Given the description of an element on the screen output the (x, y) to click on. 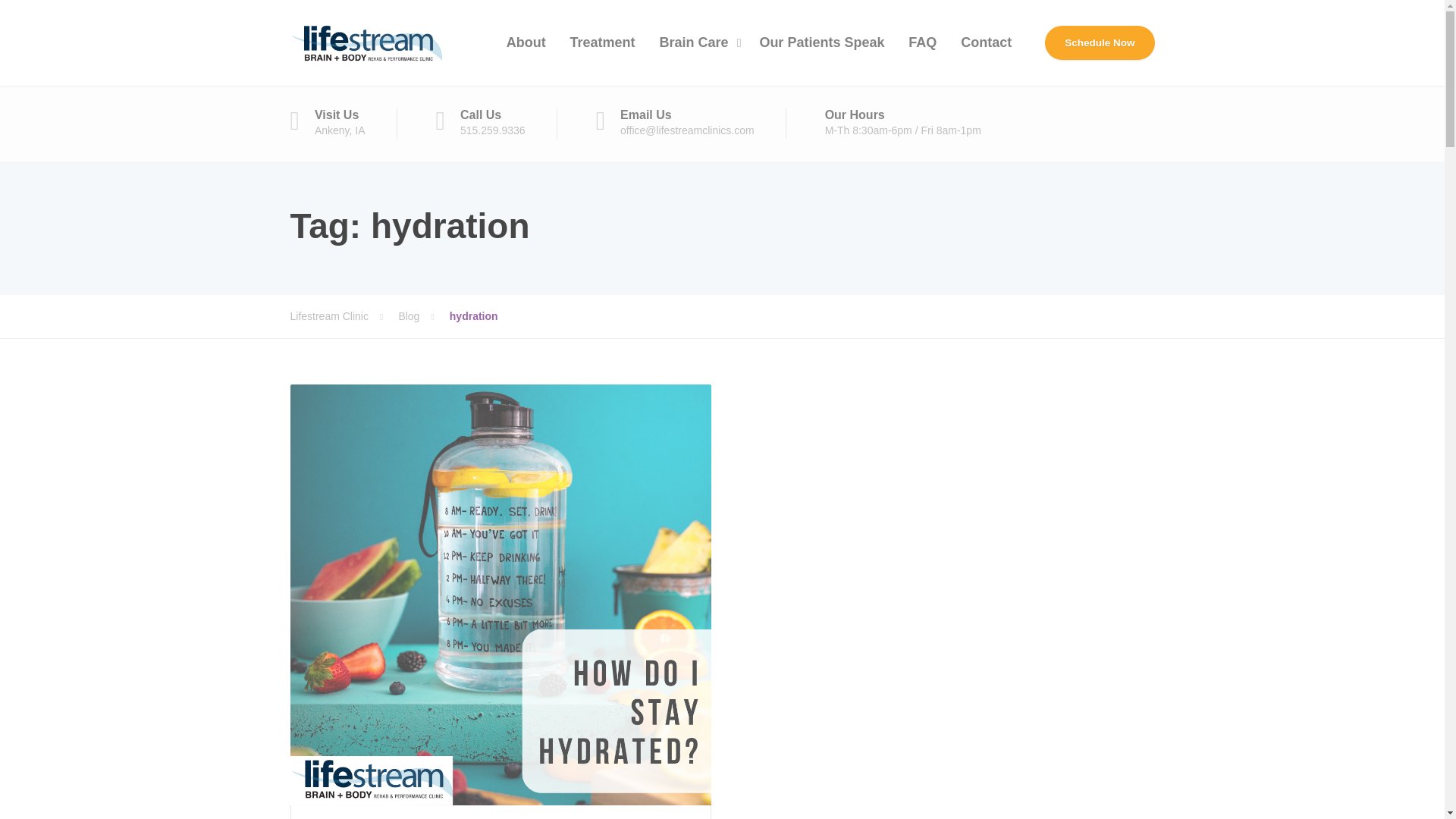
Brain Care (696, 42)
Blog (422, 315)
Lifestream Clinic (343, 315)
Treatment (602, 42)
Schedule Now (1099, 42)
Lifestream Clinic (365, 42)
Go to Blog. (422, 315)
Our Patients Speak (821, 42)
Go to Lifestream Clinic. (343, 315)
